Given the description of an element on the screen output the (x, y) to click on. 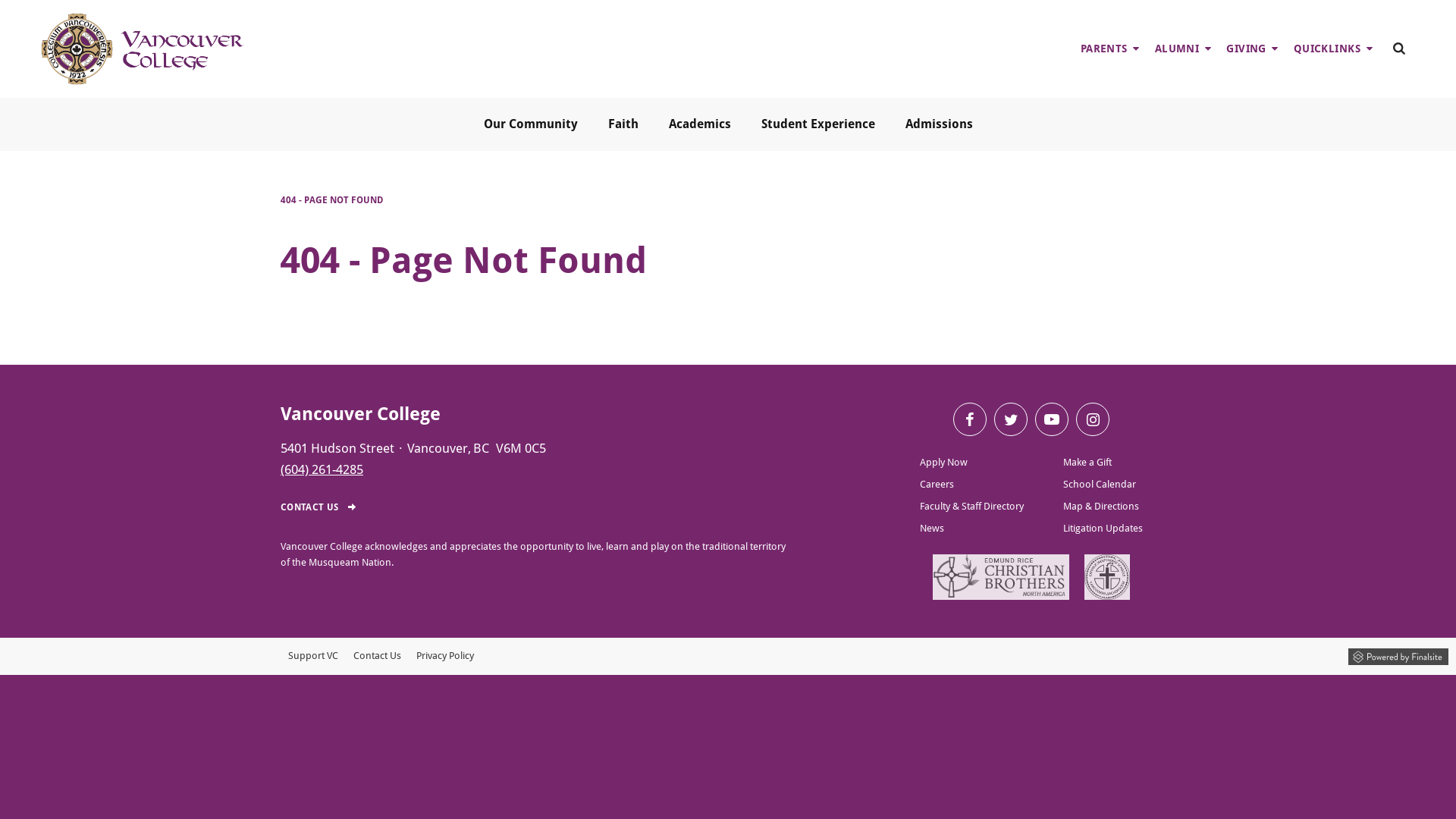
GIVING Element type: text (1252, 48)
Student Experience Element type: text (818, 123)
Privacy Policy Element type: text (444, 655)
Open Search Element type: text (1399, 48)
ALUMNI Element type: text (1183, 48)
Youtube Element type: text (1051, 419)
Make a Gift Element type: text (1102, 462)
Contact Us
(opens in new window/tab) Element type: text (376, 655)
CISVA
(opens in new window/tab) Element type: text (1106, 576)
Admissions Element type: text (939, 123)
Powered by Finalsite Element type: text (1398, 654)
Facebook Element type: text (969, 419)
School Calendar Element type: text (1102, 484)
Map & Directions Element type: text (1102, 506)
QUICKLINKS Element type: text (1333, 48)
Vancouver College Element type: text (360, 413)
Twitter Element type: text (1010, 419)
Academics Element type: text (699, 123)
ERCBNA
(opens in new window/tab) Element type: text (1000, 576)
PARENTS Element type: text (1110, 48)
Faculty & Staff Directory Element type: text (971, 506)
(604) 261-4285 Element type: text (321, 468)
Litigation Updates Element type: text (1102, 528)
Our Community Element type: text (530, 123)
News Element type: text (971, 528)
Instagram Element type: text (1092, 419)
CONTACT US Element type: text (334, 507)
Careers Element type: text (971, 484)
Support VC Element type: text (312, 655)
Faith Element type: text (623, 123)
Apply Now Element type: text (971, 462)
